Given the description of an element on the screen output the (x, y) to click on. 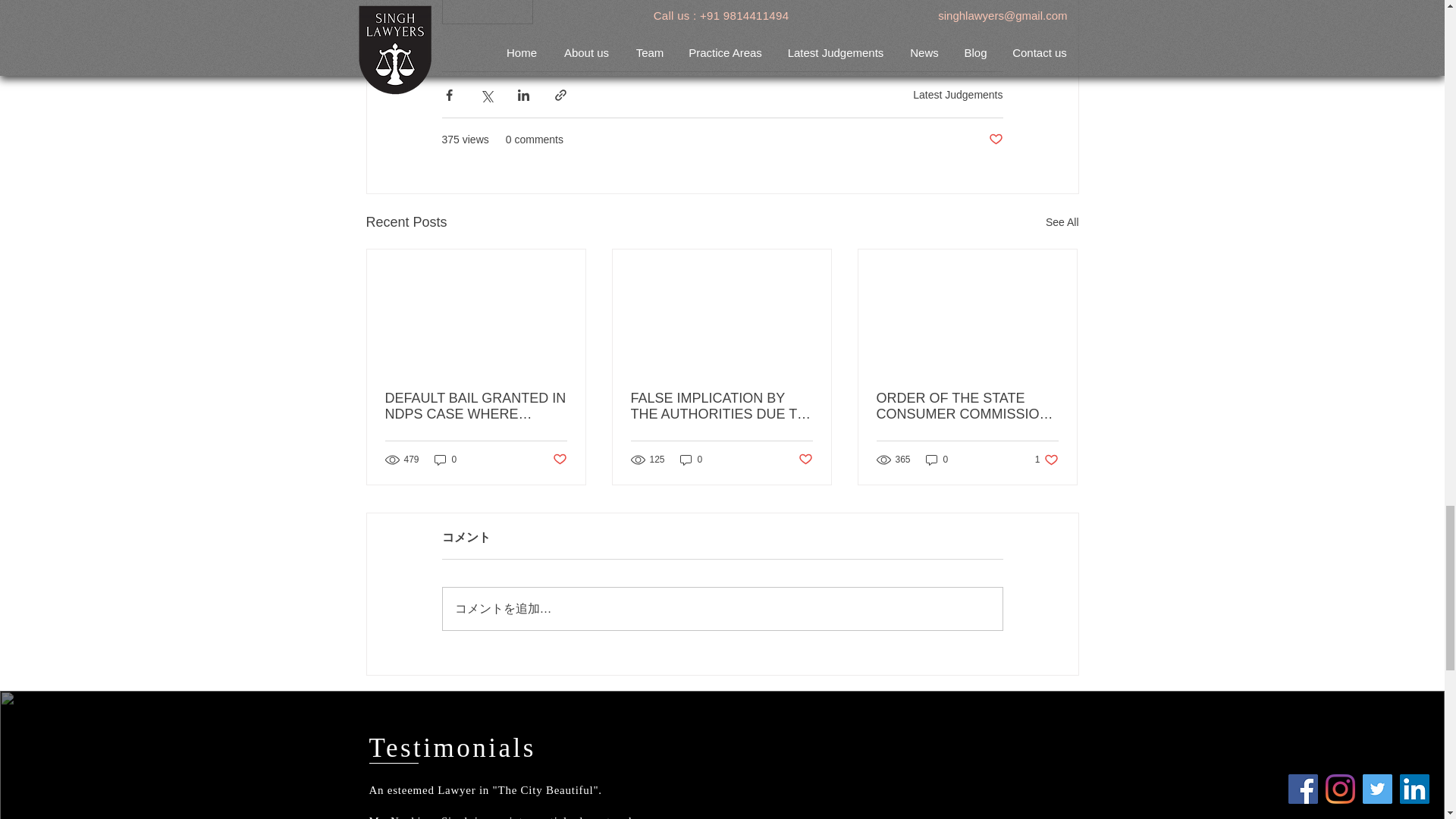
0 (445, 459)
Post not marked as liked (995, 139)
Latest Judgements (957, 94)
Post not marked as liked (558, 459)
0 (691, 459)
See All (1061, 222)
